Given the description of an element on the screen output the (x, y) to click on. 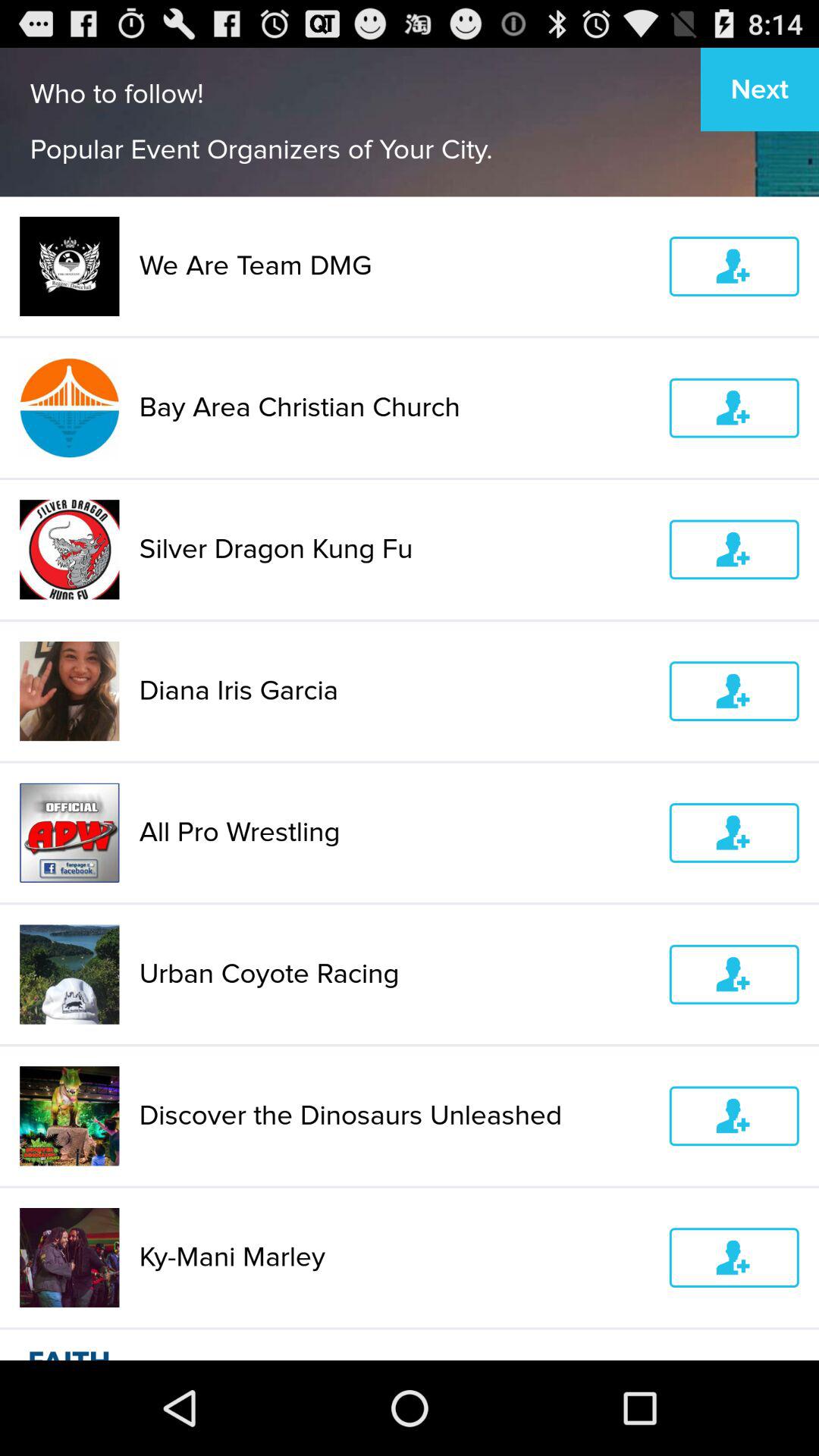
turn on icon above bay area christian (394, 265)
